Given the description of an element on the screen output the (x, y) to click on. 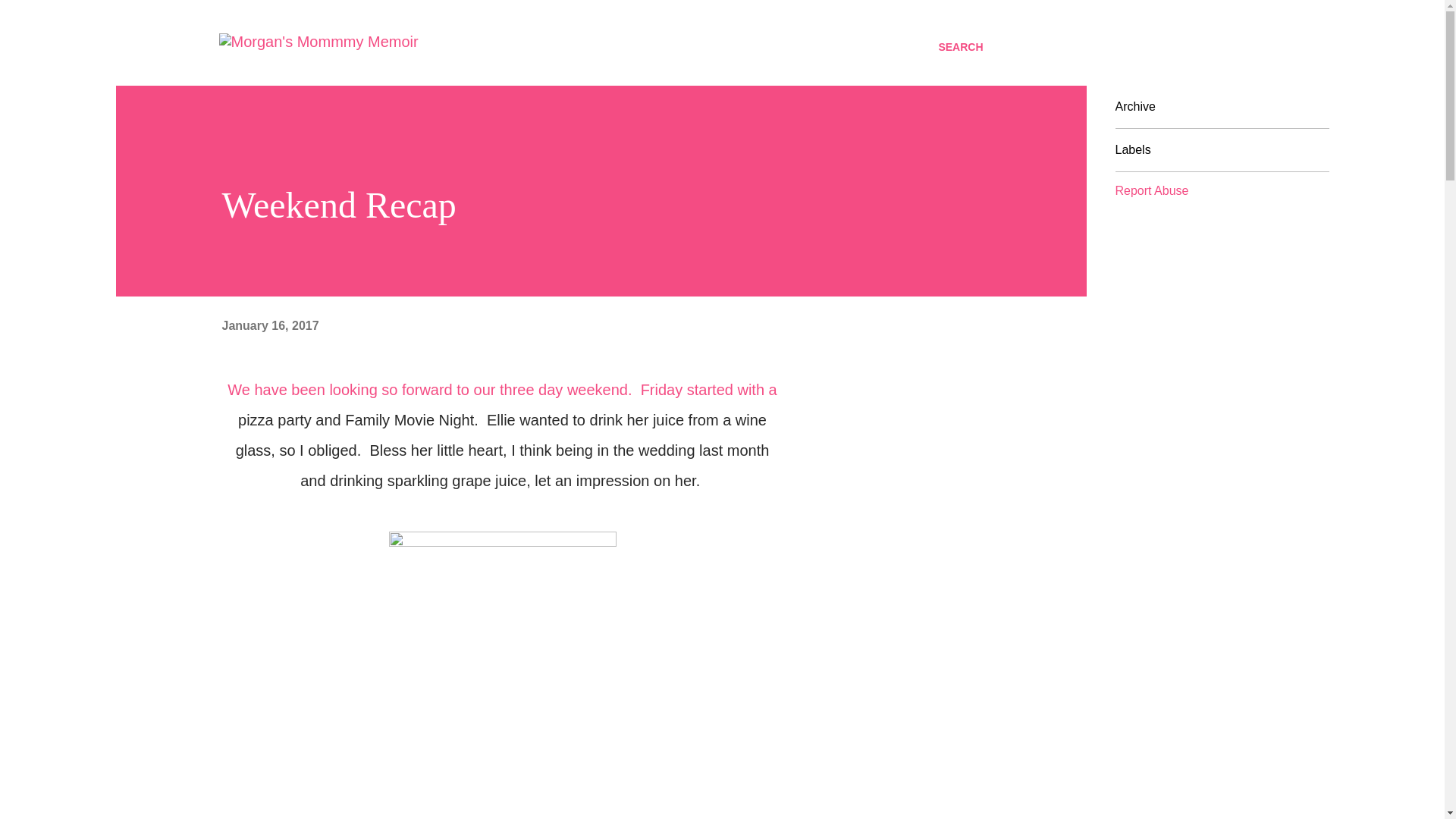
January 16, 2017 (269, 325)
permanent link (269, 325)
SEARCH (959, 46)
